Given the description of an element on the screen output the (x, y) to click on. 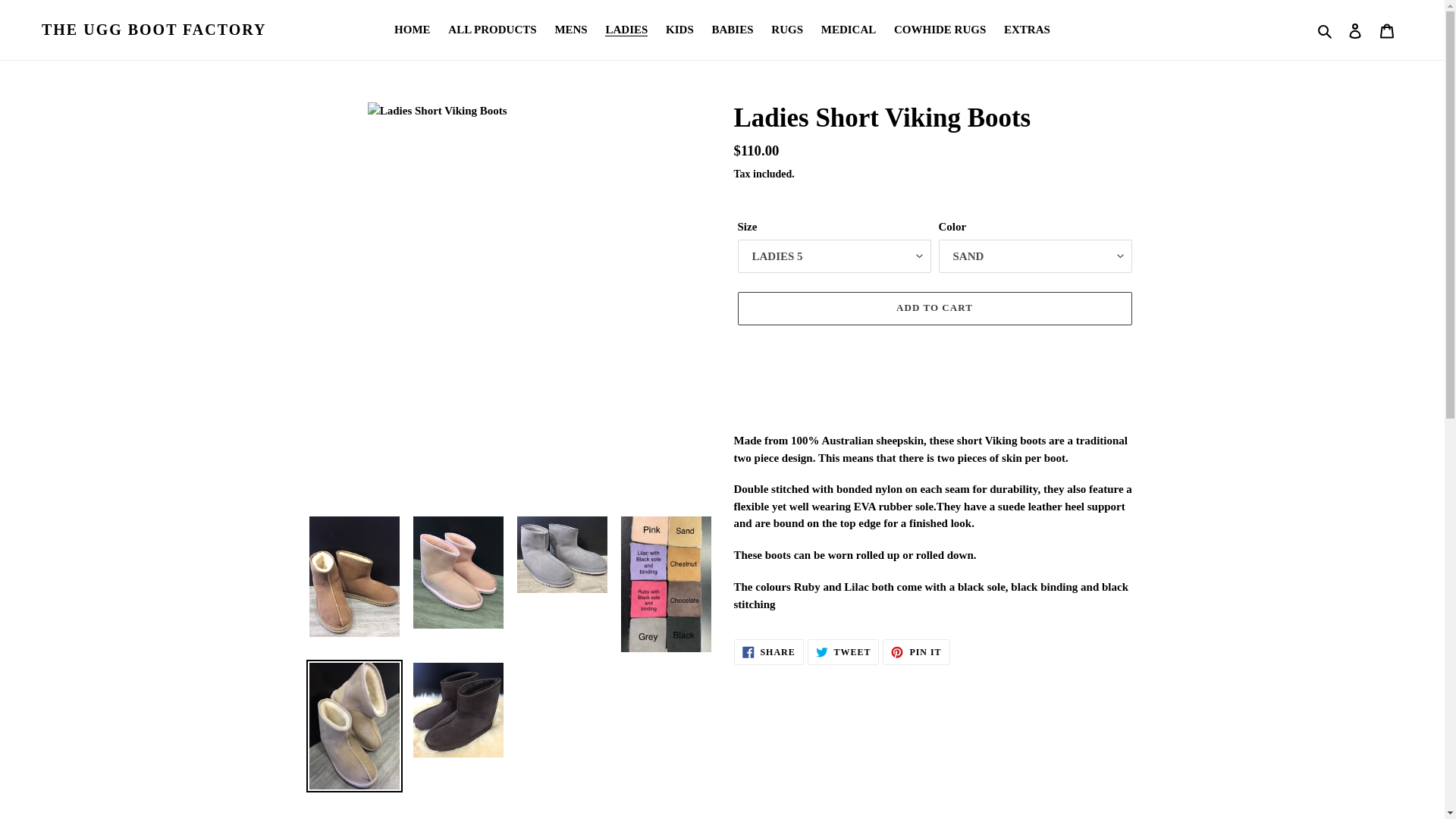
Cart (1387, 29)
THE UGG BOOT FACTORY (154, 29)
RUGS (786, 29)
ADD TO CART (933, 308)
MEDICAL (848, 29)
Log in (1355, 29)
LADIES (625, 29)
KIDS (679, 29)
BABIES (732, 29)
COWHIDE RUGS (939, 29)
